Given the description of an element on the screen output the (x, y) to click on. 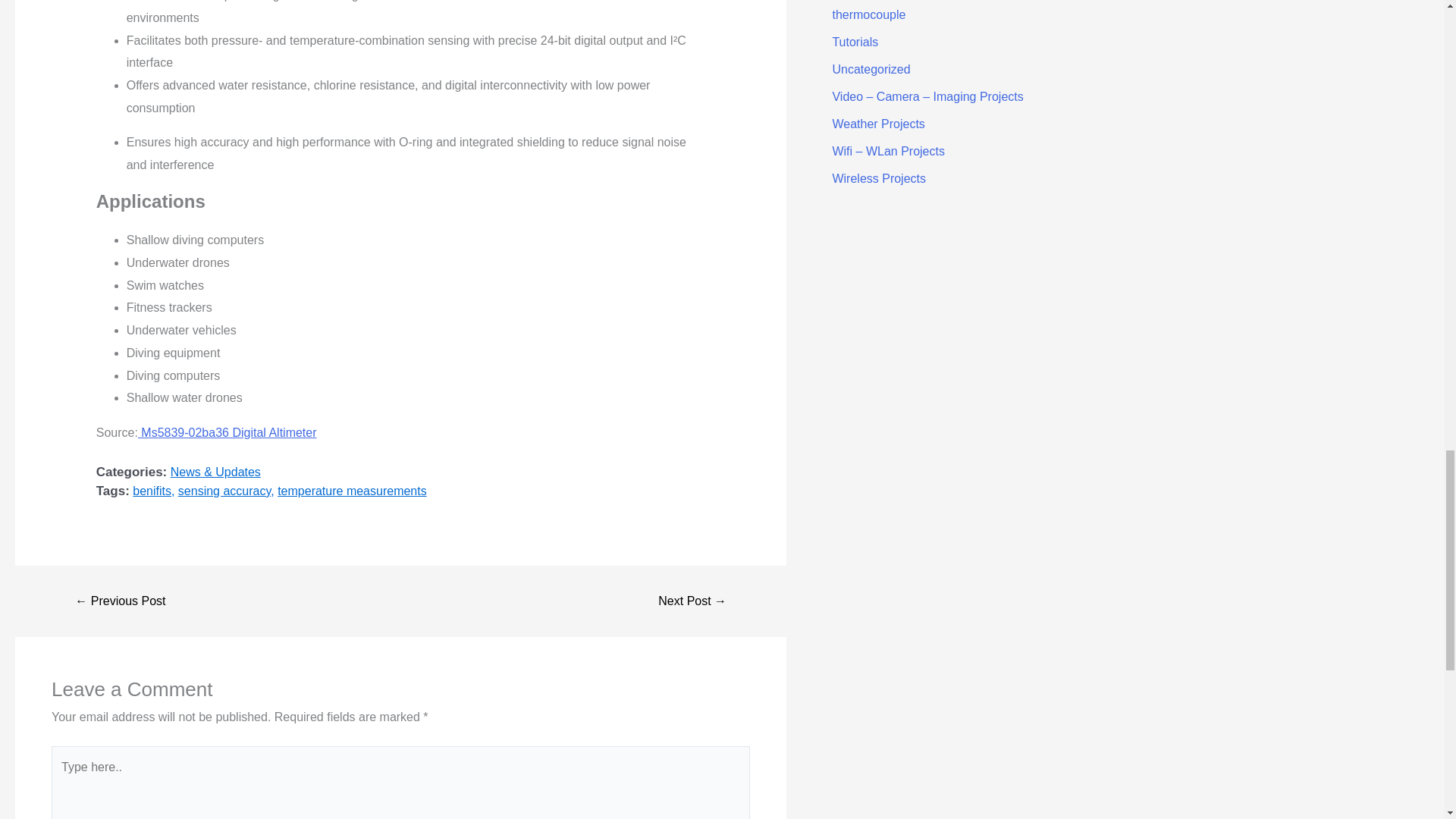
benifits (151, 490)
Honey I Shrunk the Remotes! (119, 601)
temperature measurements (352, 490)
Ms5839-02ba36 Digital Altimeter (227, 431)
sensing accuracy (223, 490)
